Given the description of an element on the screen output the (x, y) to click on. 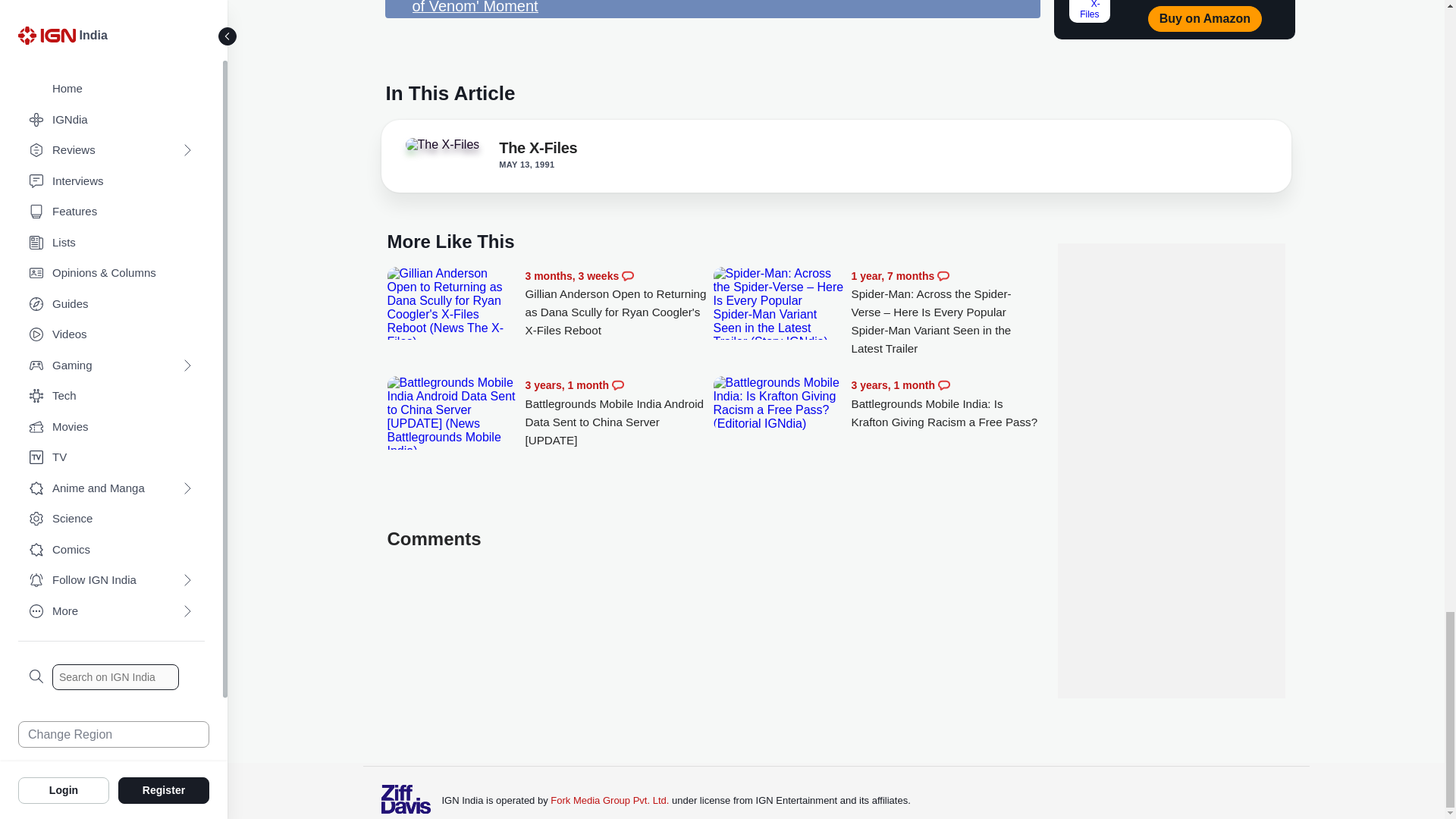
The X-Files (448, 149)
The X-Files (537, 150)
The X-Files (441, 144)
